Given the description of an element on the screen output the (x, y) to click on. 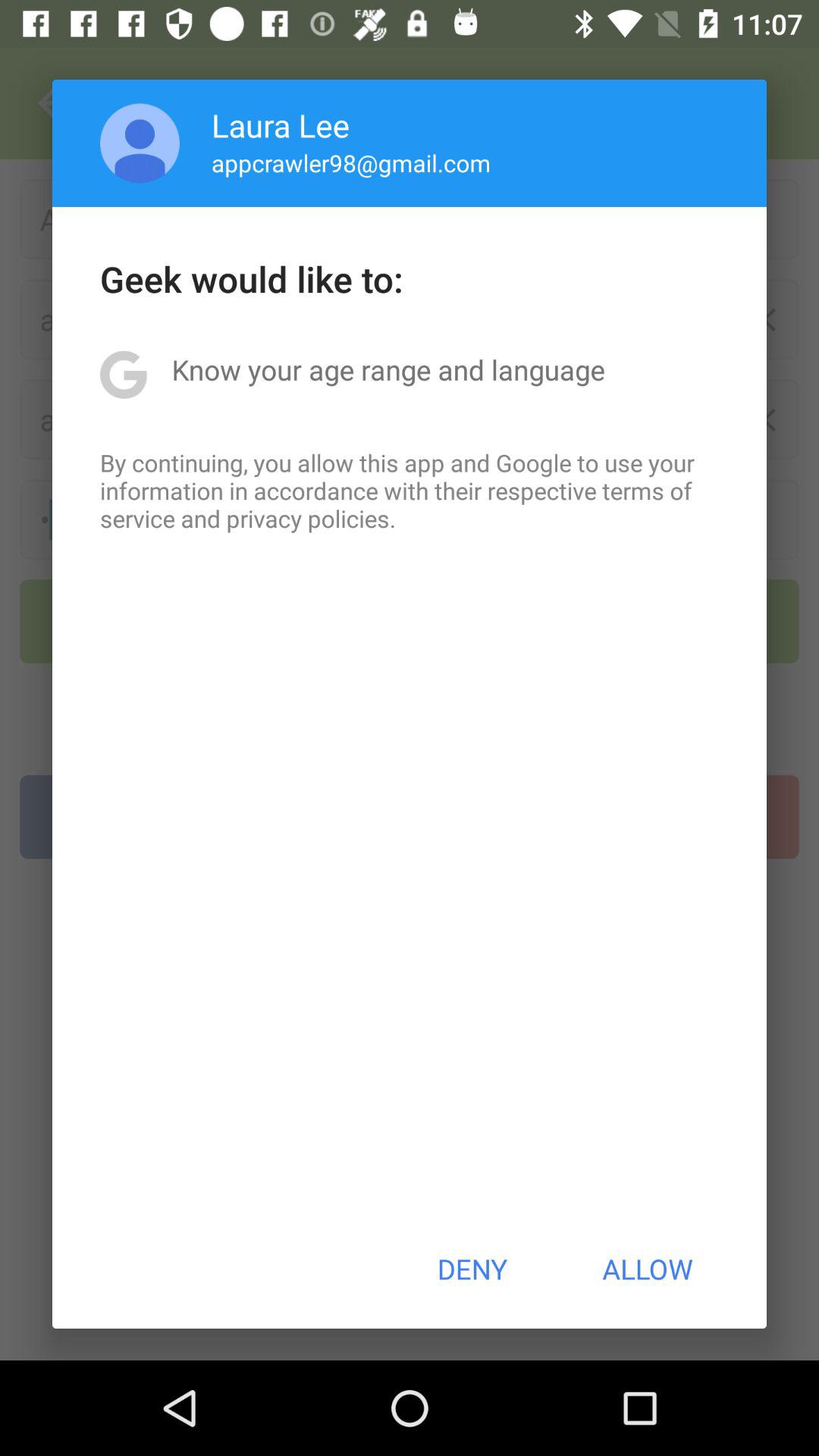
scroll to laura lee item (280, 124)
